Given the description of an element on the screen output the (x, y) to click on. 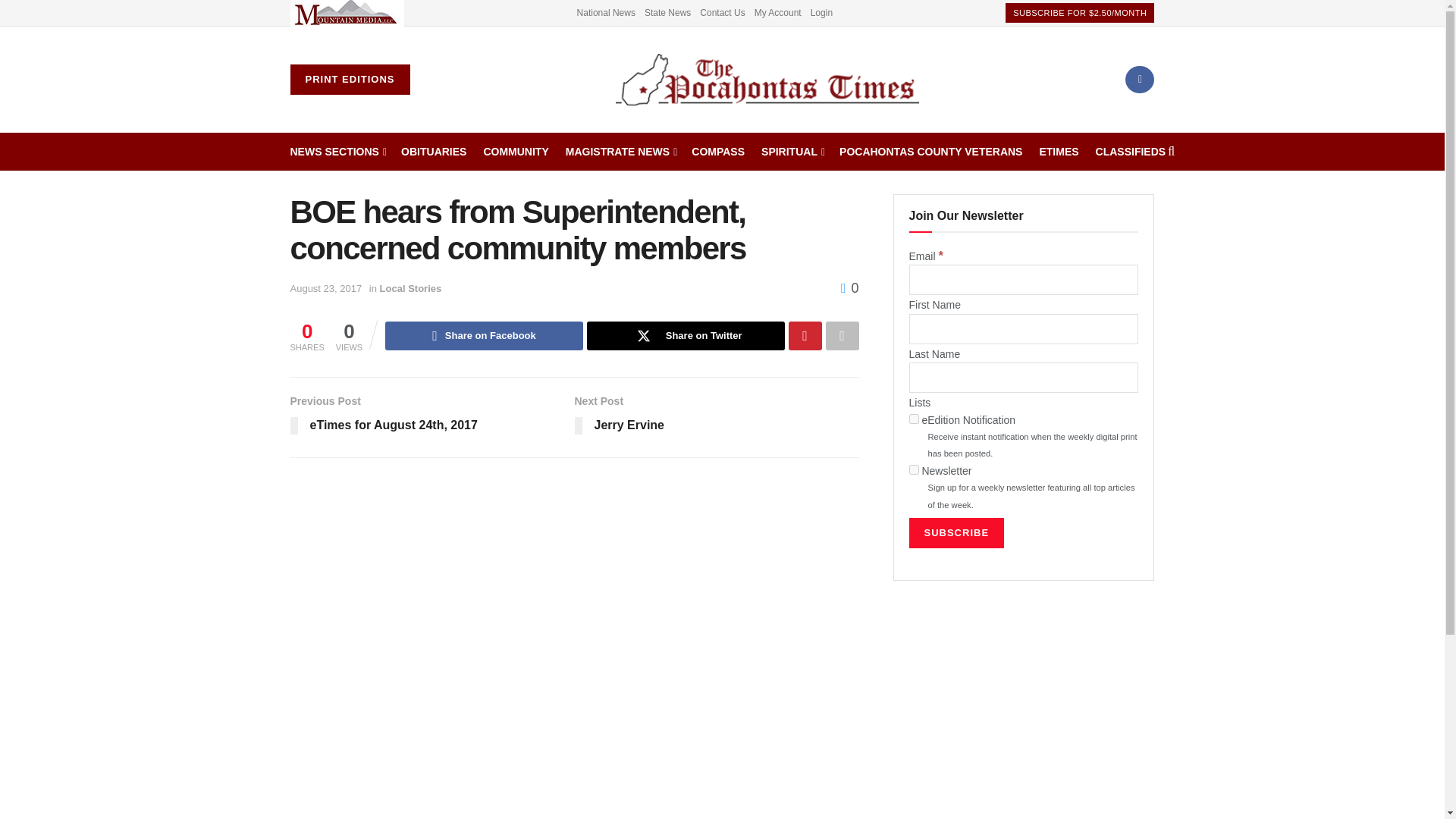
NEWS SECTIONS (336, 151)
SPIRITUAL (791, 151)
COMPASS (717, 151)
Advertisement (1023, 714)
MAGISTRATE NEWS (620, 151)
ETIMES (1058, 151)
POCAHONTAS COUNTY VETERANS (931, 151)
2 (913, 470)
Contact Us (722, 12)
National News (605, 12)
My Account (778, 12)
CLASSIFIEDS (1131, 151)
COMMUNITY (515, 151)
